Given the description of an element on the screen output the (x, y) to click on. 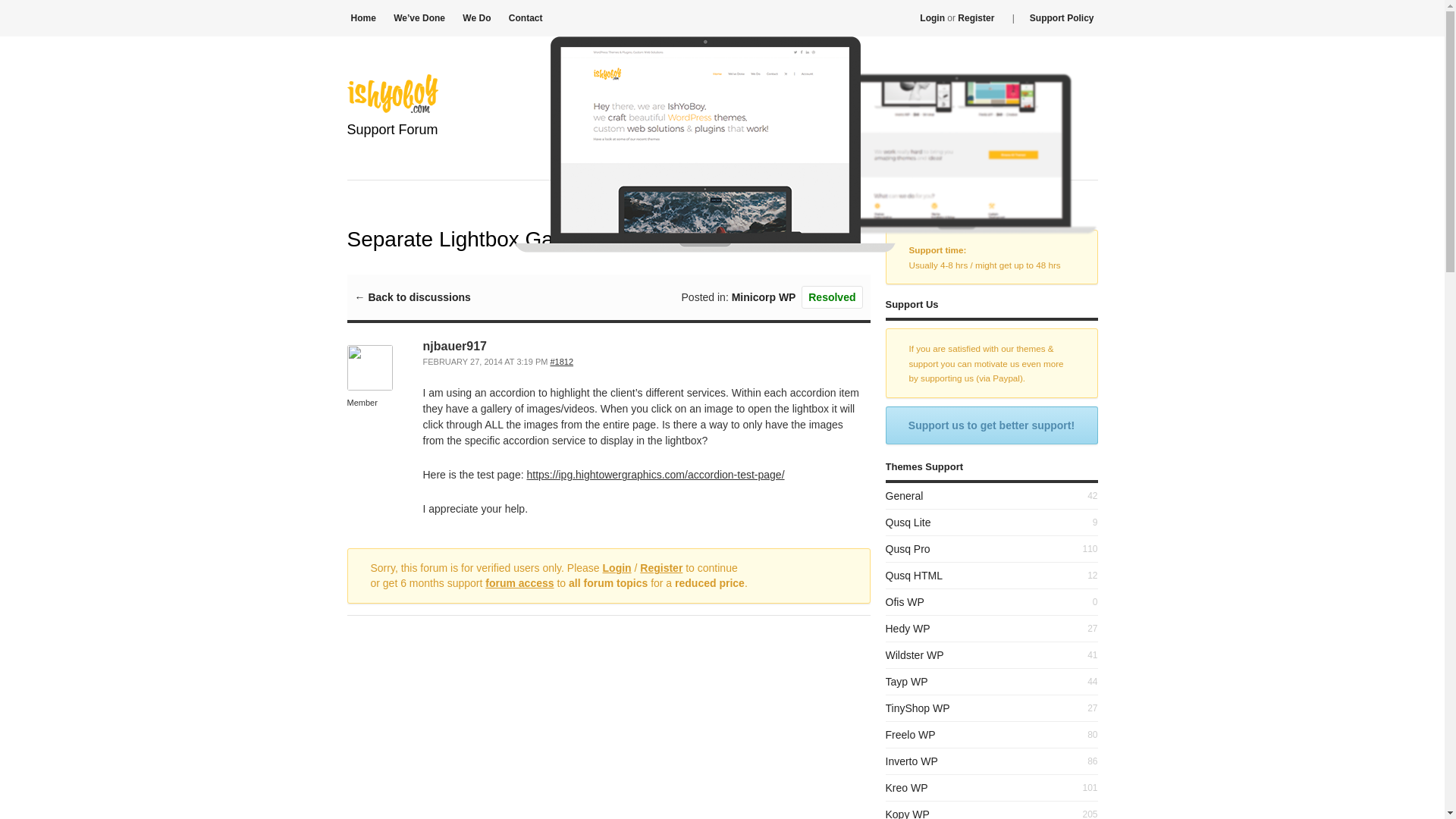
Support Policy (1061, 18)
Login (616, 567)
forum access (518, 582)
Qusq Pro (907, 548)
Inverto WP (911, 761)
Kopy WP (907, 813)
TinyShop WP (917, 707)
Tayp WP (906, 681)
Minicorp WP (764, 297)
General (904, 495)
